Given the description of an element on the screen output the (x, y) to click on. 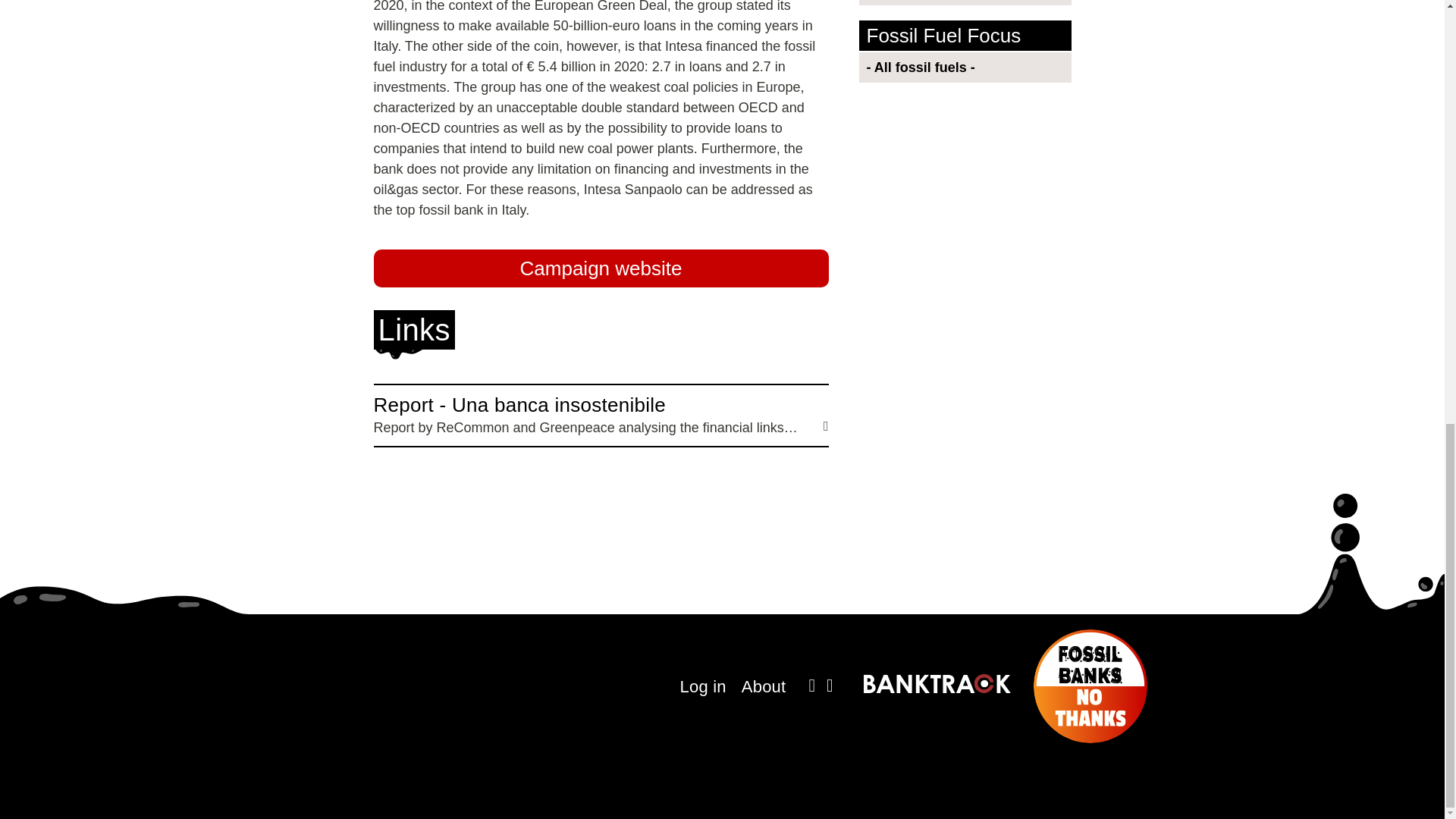
Log in (702, 686)
- All fossil fuels - (968, 67)
About (763, 686)
Italy (968, 2)
Campaign website (600, 268)
Campaign website (600, 268)
Report - Una banca insostenibile (600, 415)
